Given the description of an element on the screen output the (x, y) to click on. 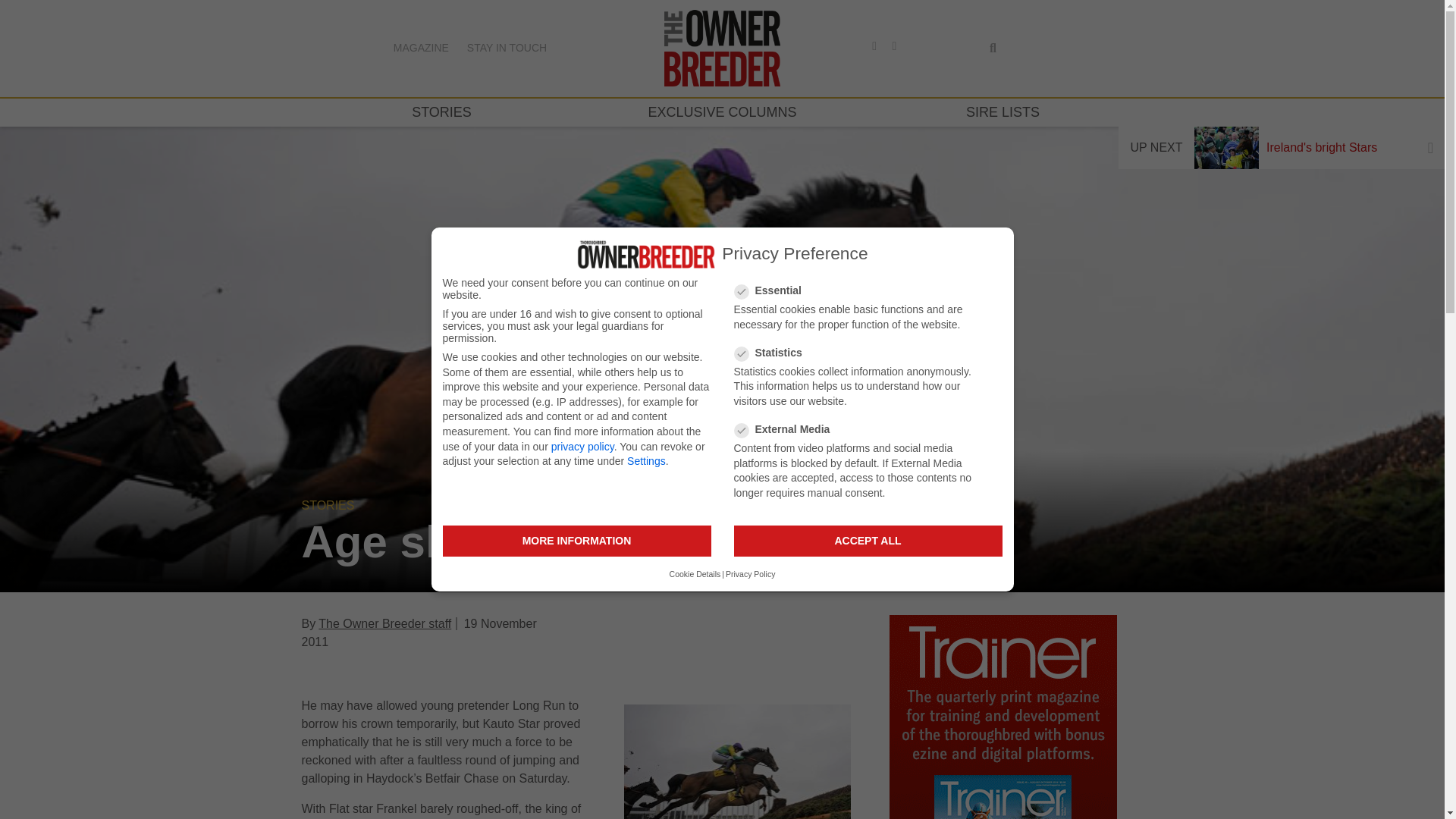
The Owner Breeder staff (384, 623)
MAGAZINE (420, 47)
EXCLUSIVE COLUMNS (721, 111)
STAY IN TOUCH (507, 48)
KAUTO STAR (737, 761)
SIRE LISTS (1002, 111)
STORIES (441, 111)
